Given the description of an element on the screen output the (x, y) to click on. 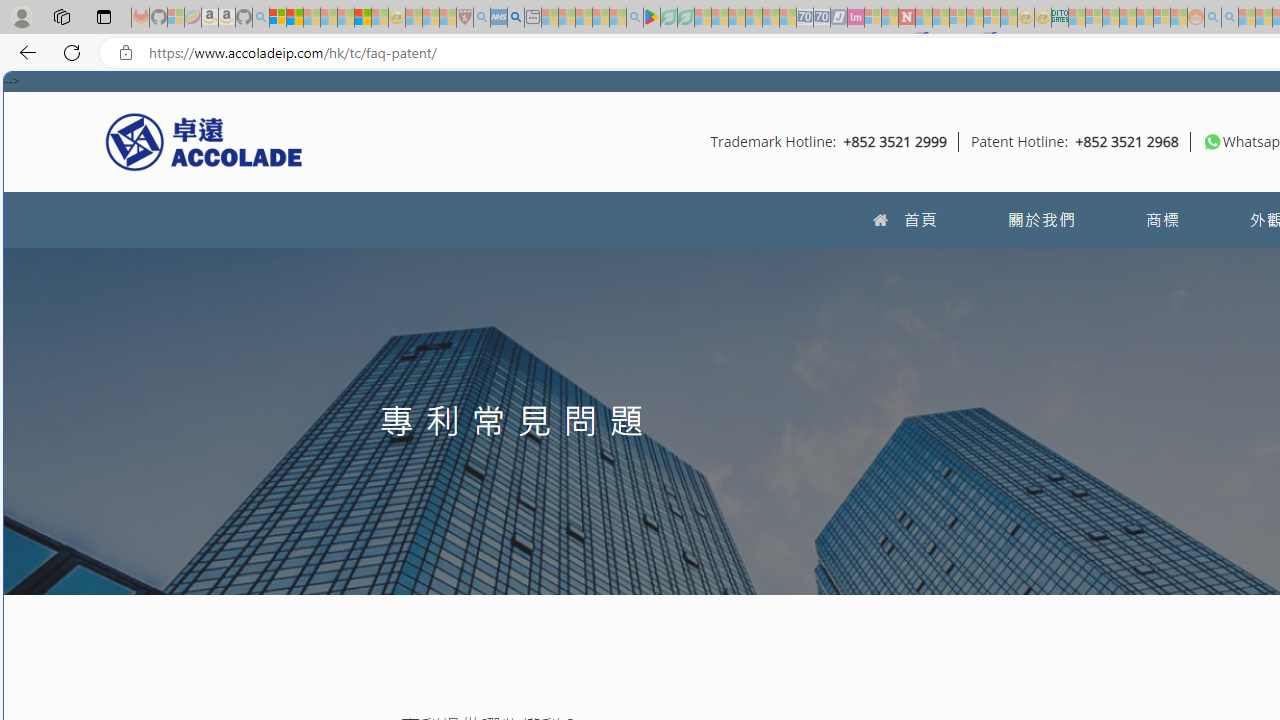
google - Search - Sleeping (634, 17)
